Given the description of an element on the screen output the (x, y) to click on. 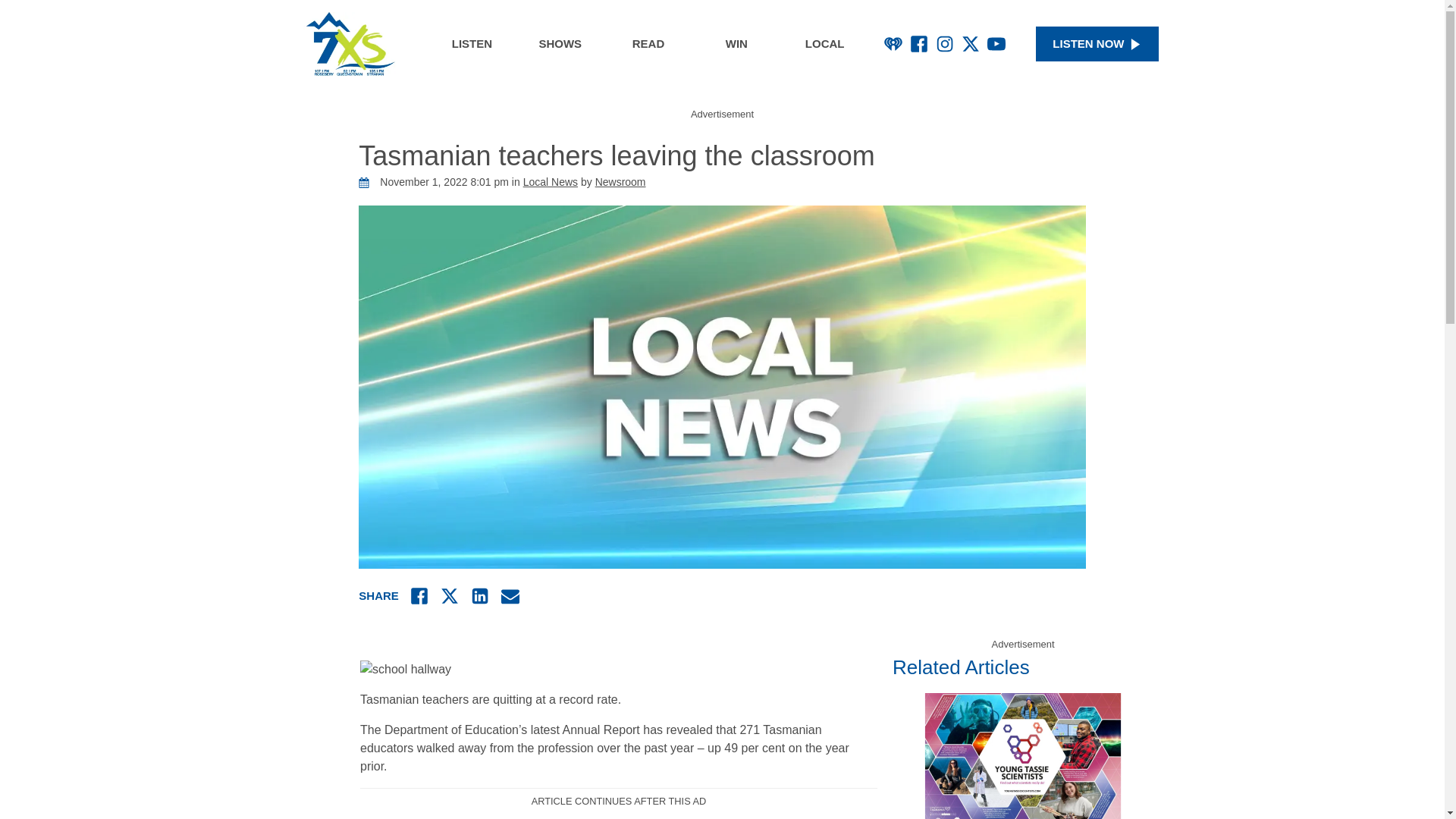
Facebook (919, 44)
LOCAL (824, 43)
WIN (736, 43)
Posts by Newsroom (620, 182)
iHeart (892, 44)
Instagram (944, 44)
LISTEN NOW (1096, 44)
SHOWS (560, 43)
READ (648, 43)
YouTube (996, 44)
LISTEN (471, 43)
